Given the description of an element on the screen output the (x, y) to click on. 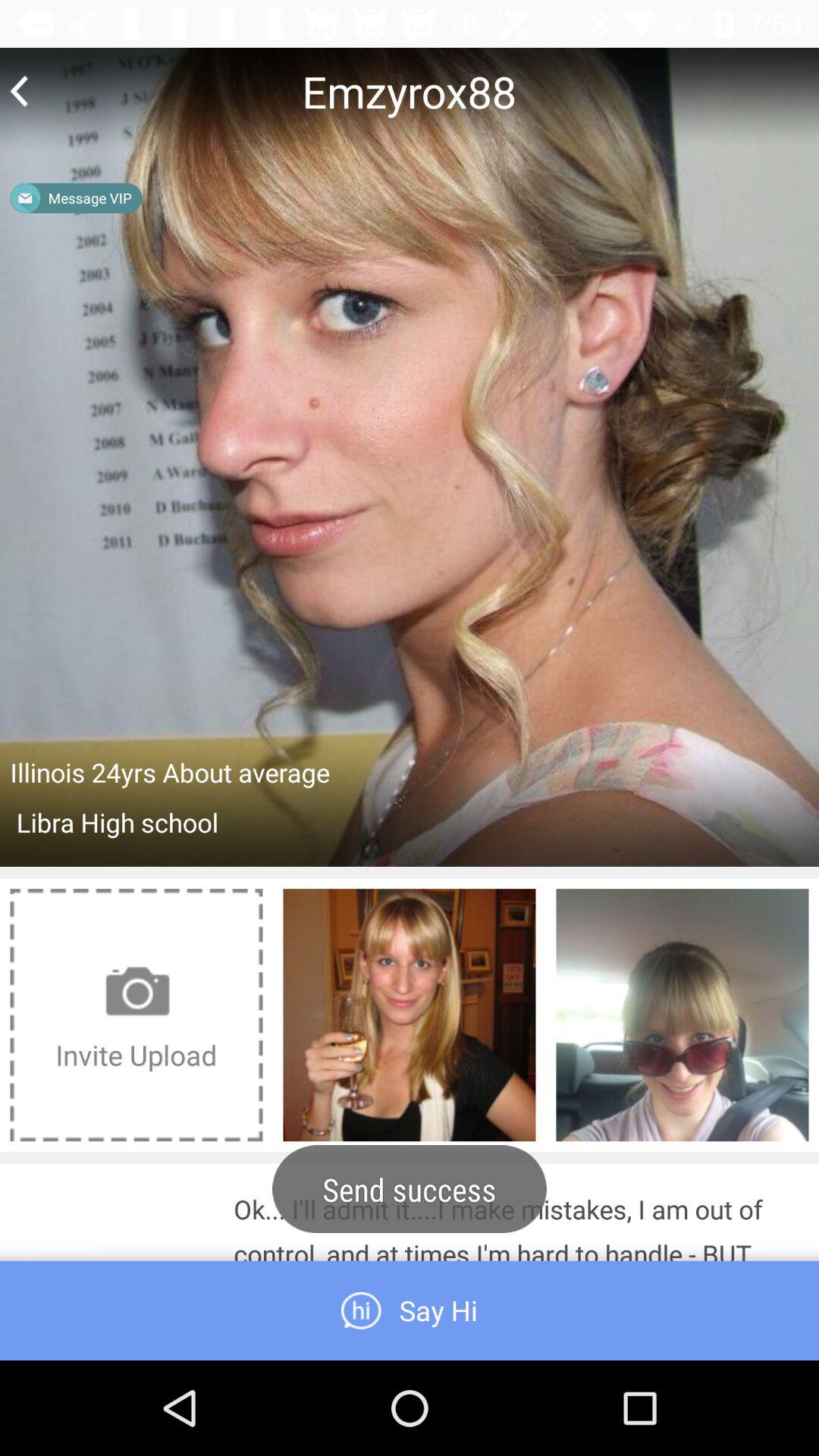
select the image which is at the bottom right side of the page (682, 1014)
